Given the description of an element on the screen output the (x, y) to click on. 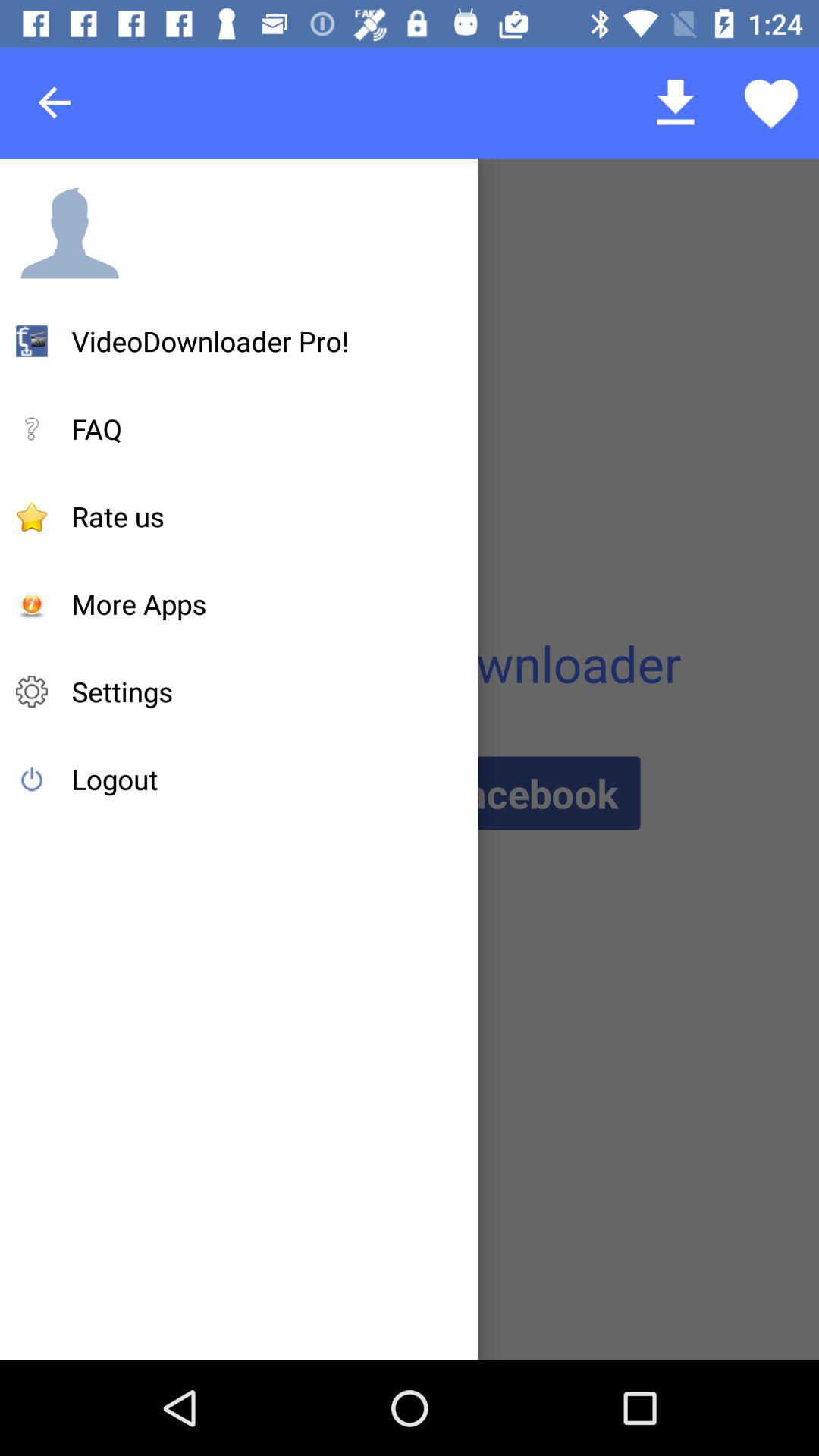
open the faq item (96, 428)
